Given the description of an element on the screen output the (x, y) to click on. 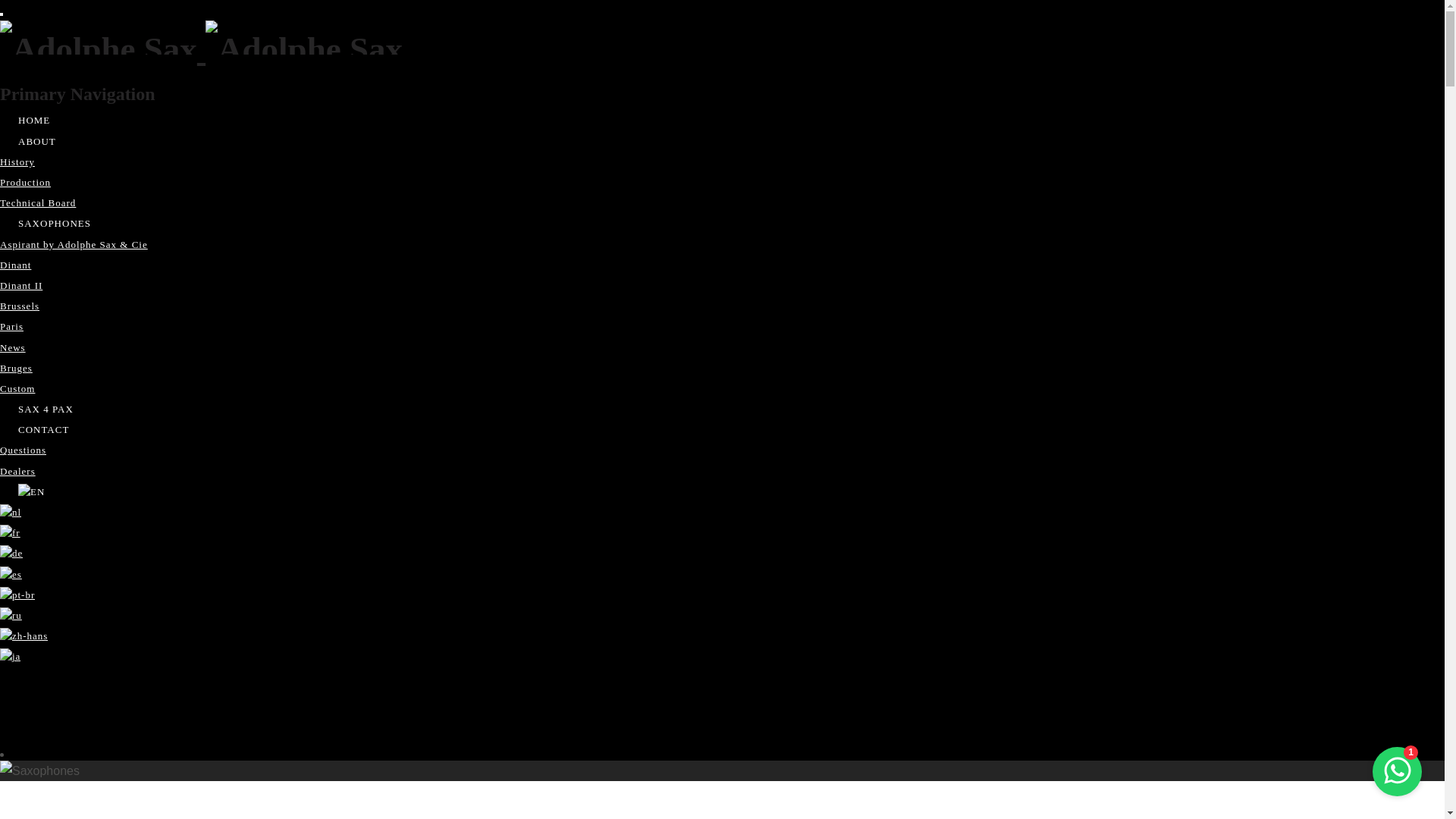
Bruges Element type: text (16, 367)
Technical Board Element type: text (37, 202)
SAXOPHONES Element type: text (54, 223)
Dinant Element type: text (15, 264)
Custom Element type: text (17, 388)
Questions Element type: text (23, 449)
Production Element type: text (25, 182)
Dinant II Element type: text (21, 285)
ABOUT Element type: text (37, 141)
Nederlands Element type: hover (10, 512)
Deutsch Element type: hover (11, 553)
Adolphe Sax Element type: hover (201, 49)
CONTACT Element type: text (43, 429)
TWITTER Element type: text (18, 697)
History Element type: text (17, 161)
YOUTUBE Element type: text (18, 738)
English Element type: hover (31, 491)
Brussels Element type: text (19, 305)
INSTAGRAM Element type: text (18, 718)
SAX 4 PAX Element type: text (45, 408)
News Element type: text (12, 347)
Aspirant by Adolphe Sax & Cie Element type: text (73, 244)
Dealers Element type: text (17, 470)
HOME Element type: text (34, 119)
FACEBOOK Element type: text (18, 677)
Paris Element type: text (11, 326)
